Given the description of an element on the screen output the (x, y) to click on. 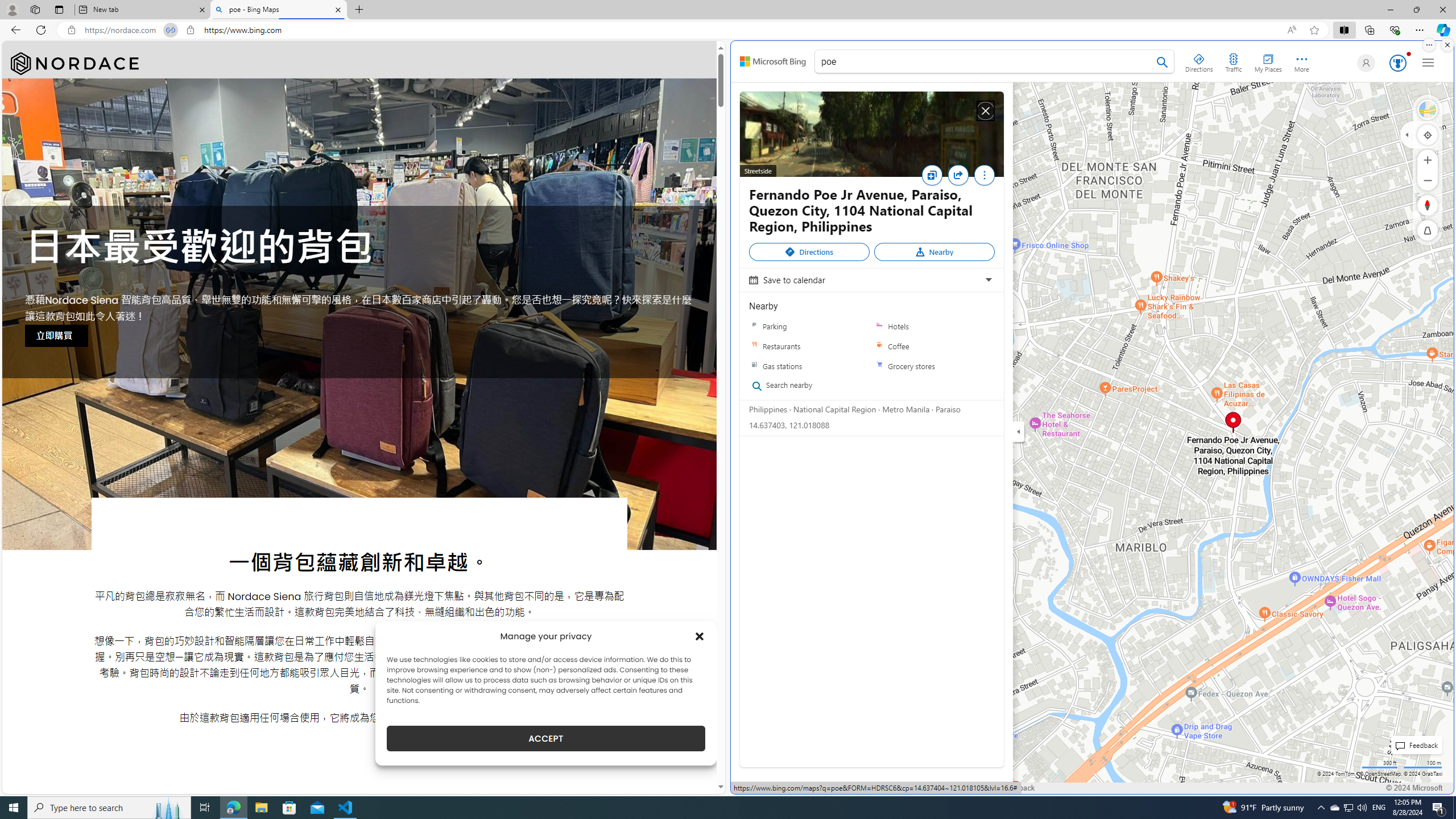
Share (957, 174)
Advertise (874, 787)
Help (977, 787)
Tabs in split screen (170, 29)
New Tab (358, 9)
Copilot (Ctrl+Shift+.) (1442, 29)
Add a search (986, 60)
Traffic (1232, 60)
Settings and more (Alt+F) (1419, 29)
New tab (142, 9)
Select Style (1427, 109)
Read aloud this page (Ctrl+Shift+U) (1291, 29)
